Given the description of an element on the screen output the (x, y) to click on. 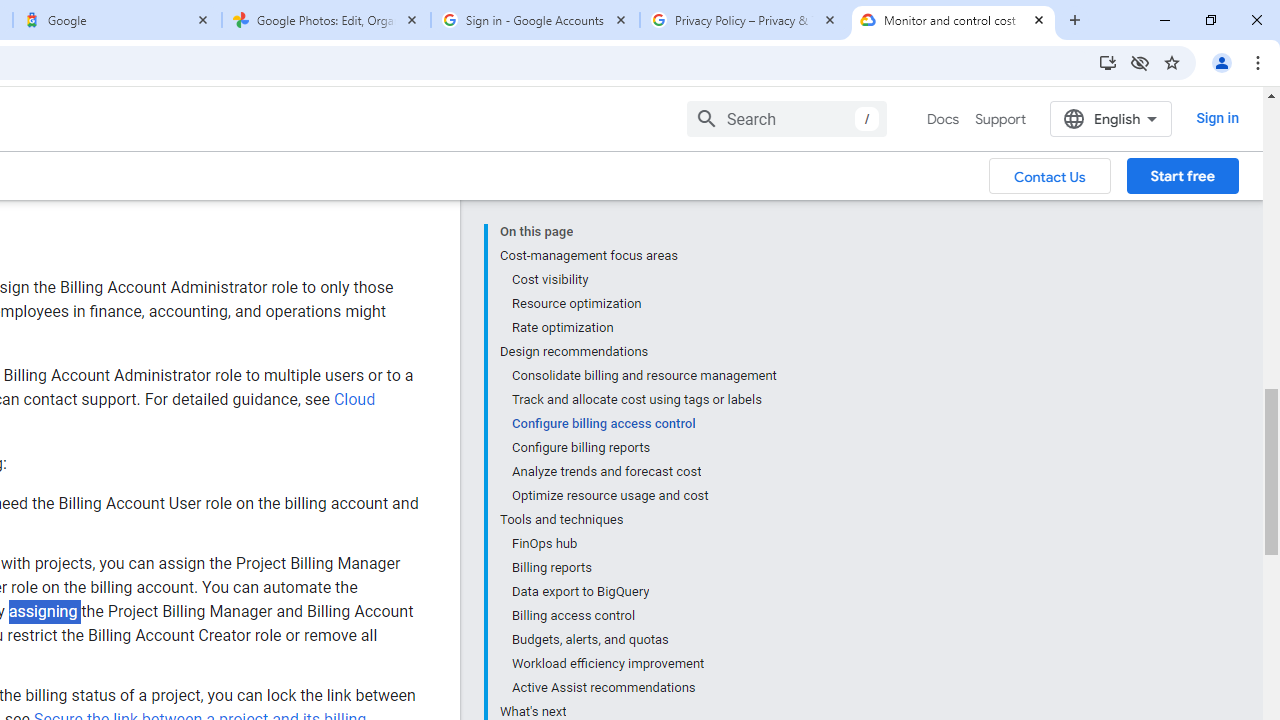
Docs, selected (942, 32)
Start free (1182, 89)
Rate optimization (643, 240)
Billing reports (643, 480)
Active Assist recommendations (643, 600)
Configure billing access control (643, 336)
Design recommendations (637, 264)
Workload efficiency improvement (643, 576)
Cost-management focus areas (637, 168)
Data export to BigQuery (643, 504)
Consolidate billing and resource management (643, 288)
Resource optimization (643, 216)
